Given the description of an element on the screen output the (x, y) to click on. 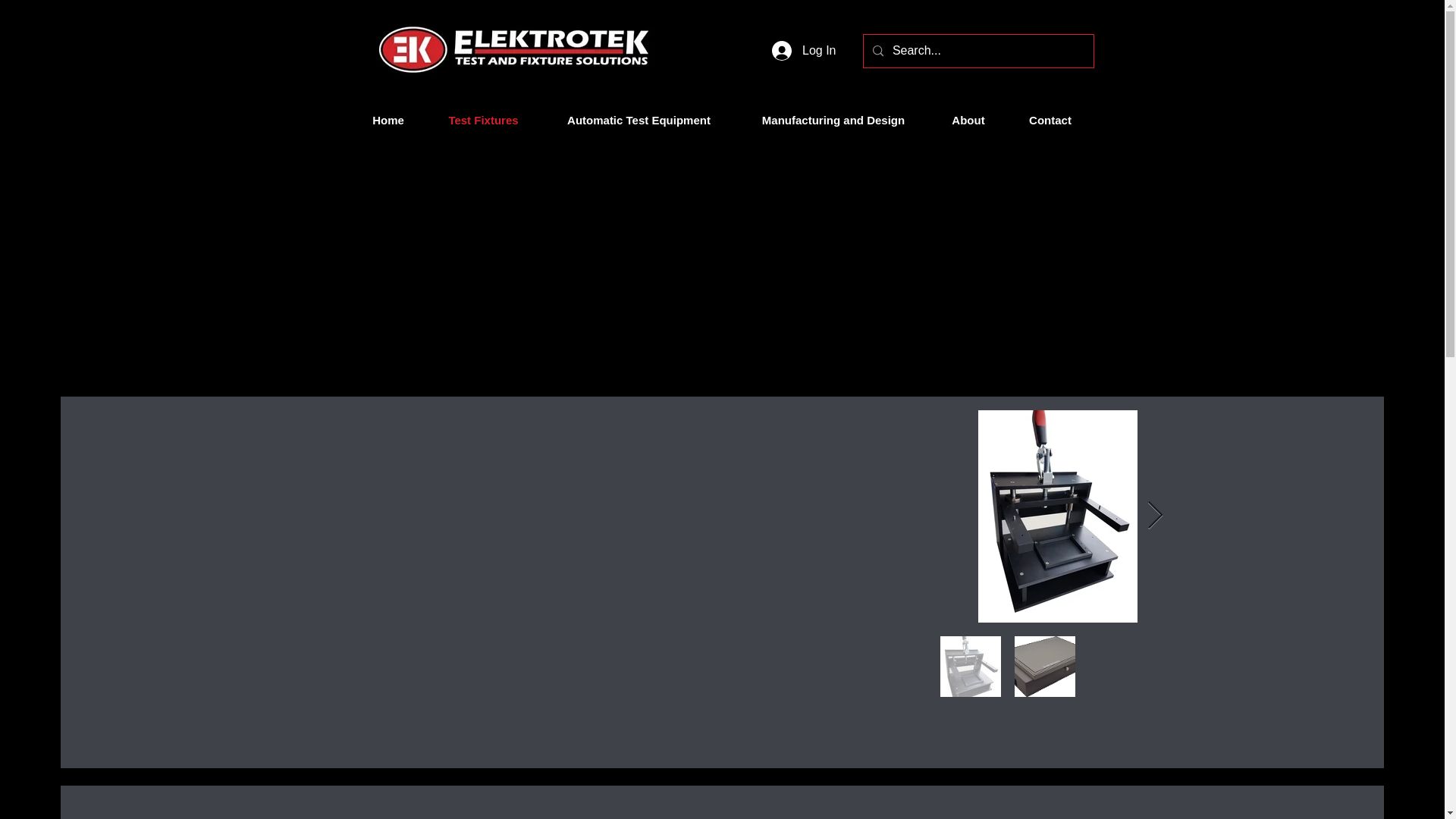
Contact (1050, 120)
Manufacturing and Design (833, 120)
About (968, 120)
Home (387, 120)
Automatic Test Equipment (638, 120)
Log In (803, 50)
Test Fixtures (483, 120)
